Given the description of an element on the screen output the (x, y) to click on. 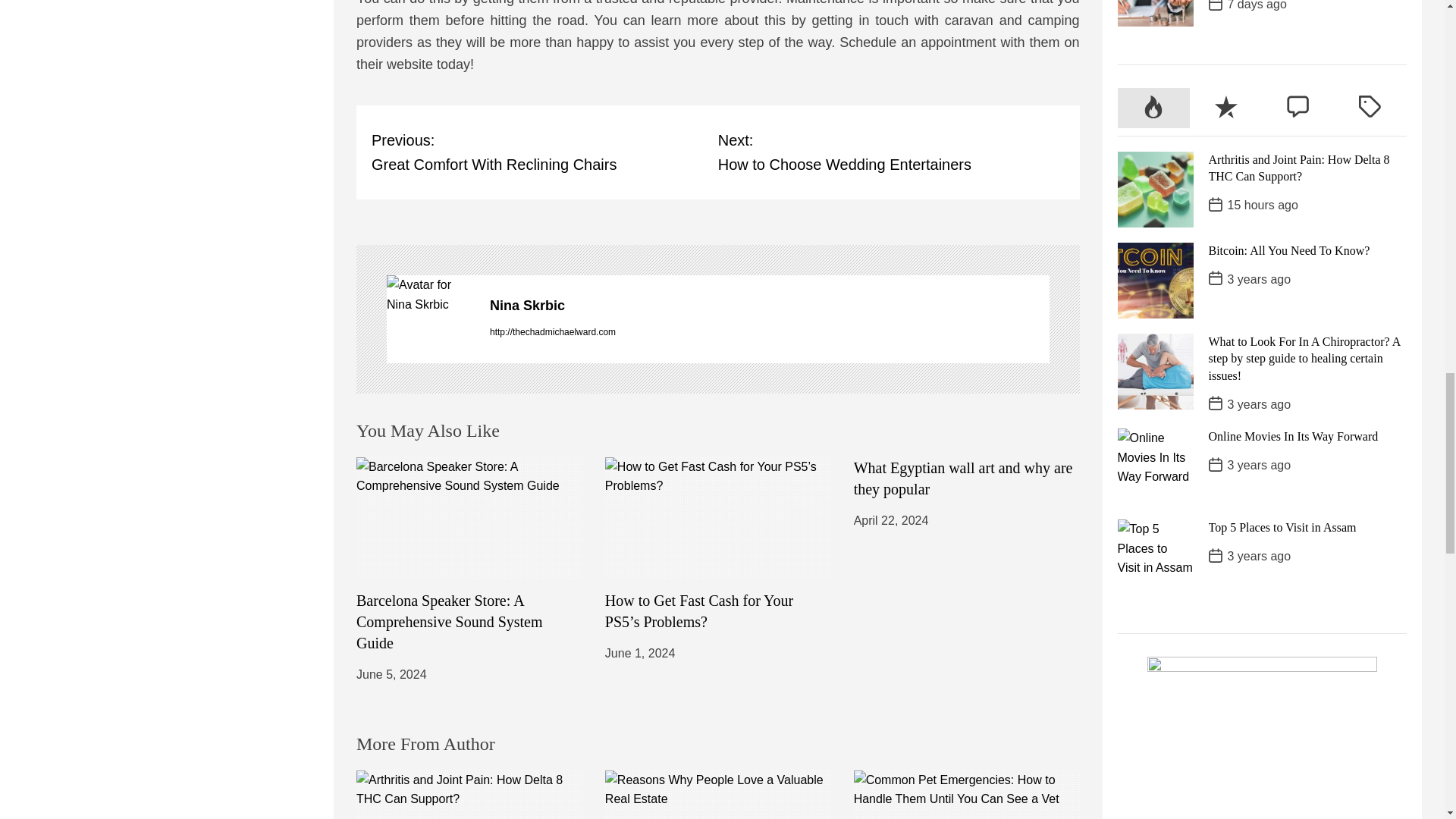
What Egyptian wall art and why are they popular (963, 478)
Nina Skrbic (769, 305)
Barcelona Speaker Store: A Comprehensive Sound System Guide (544, 151)
Nina Skrbic (449, 621)
Nina Skrbic (769, 305)
